Given the description of an element on the screen output the (x, y) to click on. 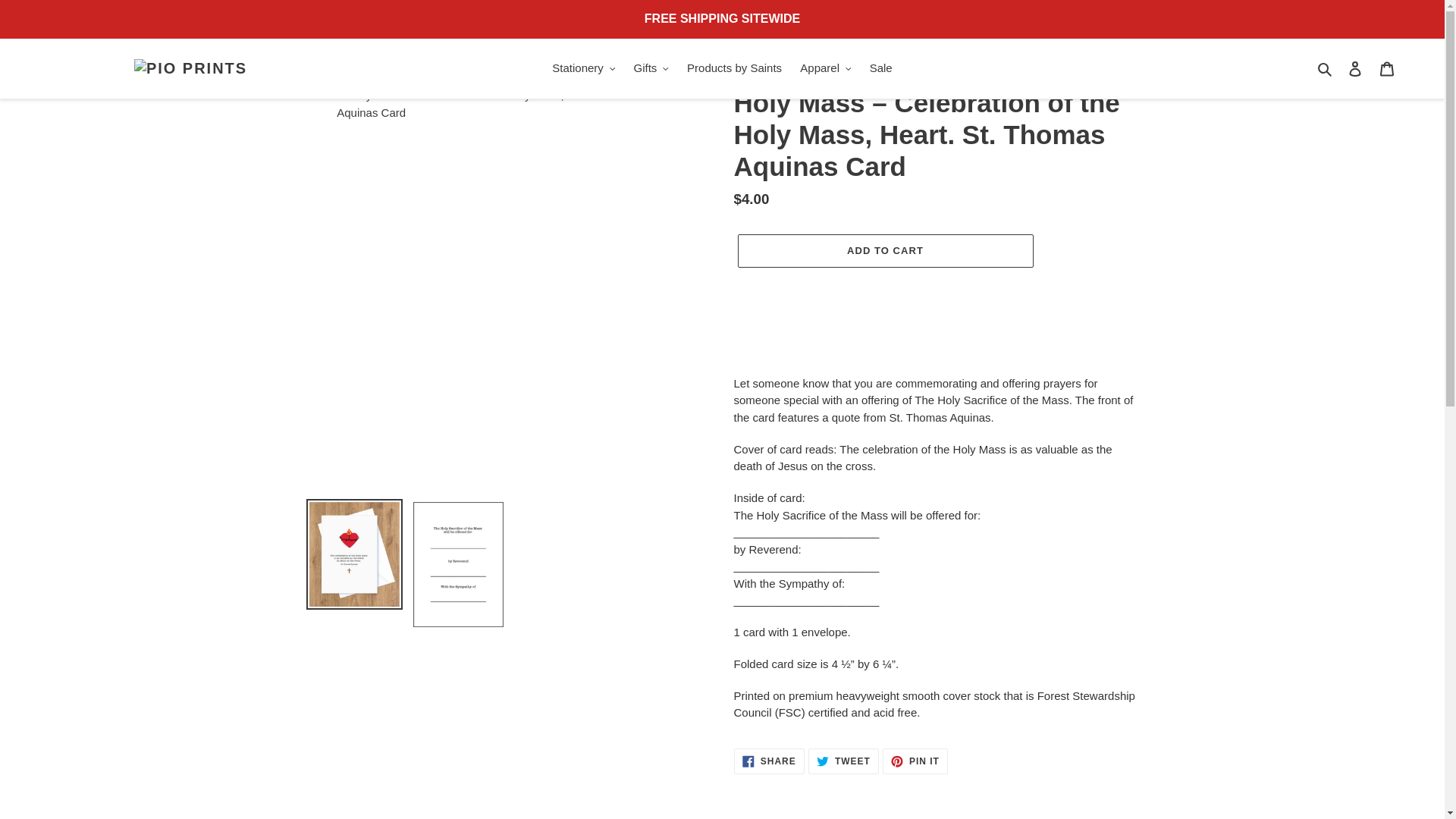
Gifts (651, 68)
Products by Saints (734, 68)
Log in (1355, 68)
Search (1326, 67)
Apparel (825, 68)
Sale (880, 68)
Stationery (583, 68)
Cart (1387, 68)
